Given the description of an element on the screen output the (x, y) to click on. 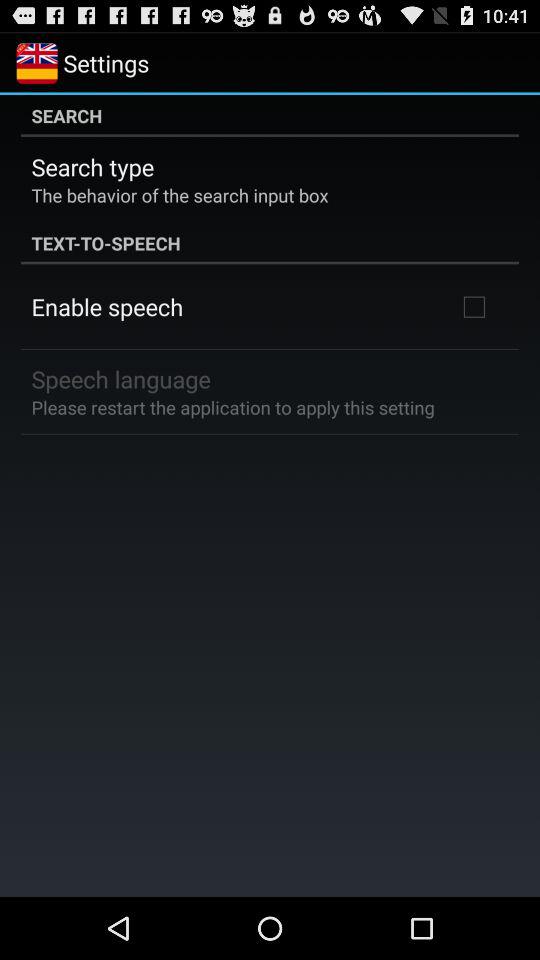
launch item below the search item (92, 166)
